Given the description of an element on the screen output the (x, y) to click on. 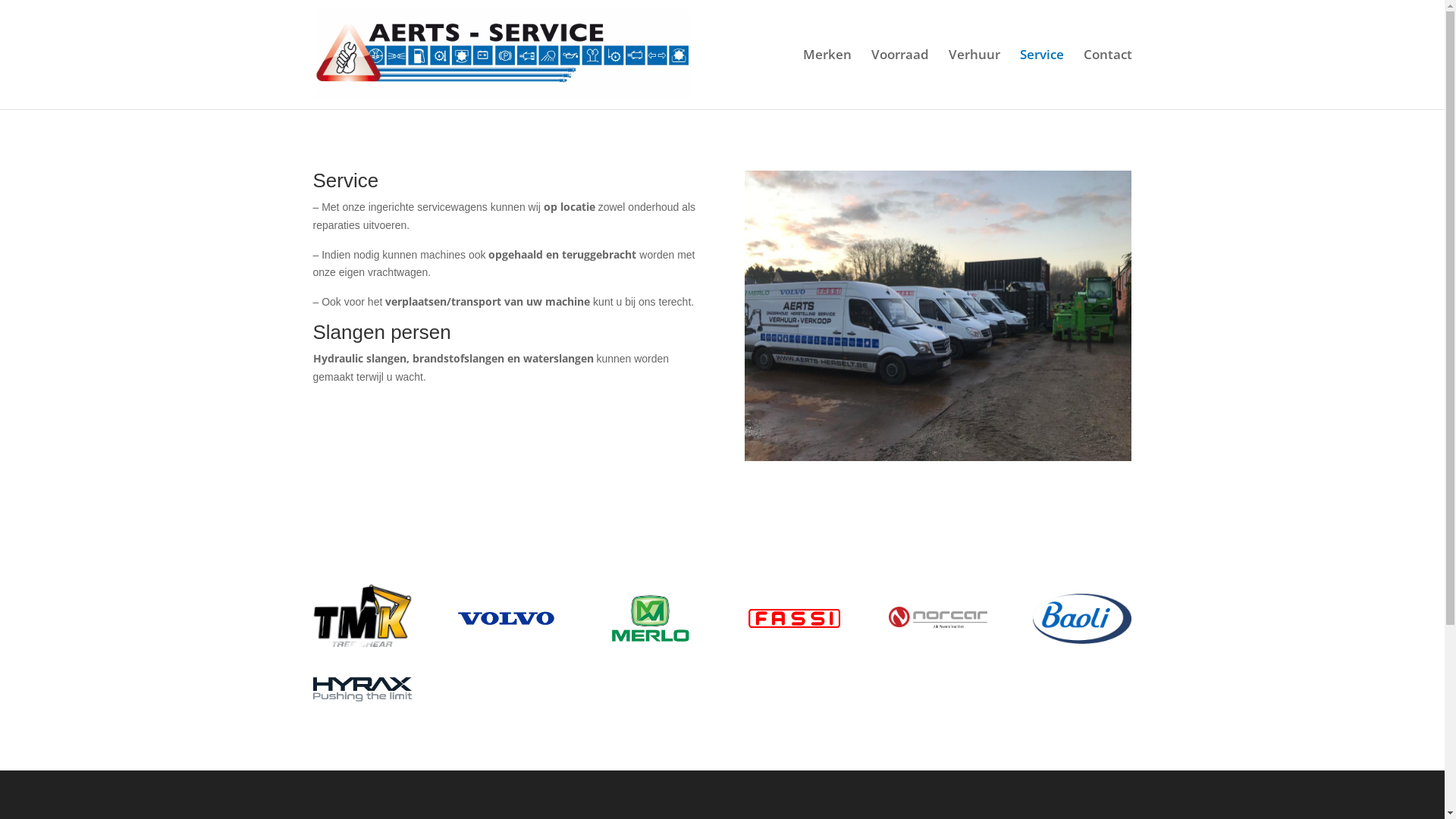
merlo Element type: hover (649, 617)
Service Element type: text (1041, 79)
Voorraad Element type: text (899, 79)
Merken Element type: text (826, 79)
Contact Element type: text (1106, 79)
norcar_land Element type: hover (937, 617)
Volvo Element type: hover (505, 617)
service busjes Element type: hover (937, 315)
logo Element type: hover (361, 615)
Hyrax logo Element type: hover (361, 689)
Verhuur Element type: text (973, 79)
fassi Element type: hover (793, 617)
download Element type: hover (1081, 618)
